Given the description of an element on the screen output the (x, y) to click on. 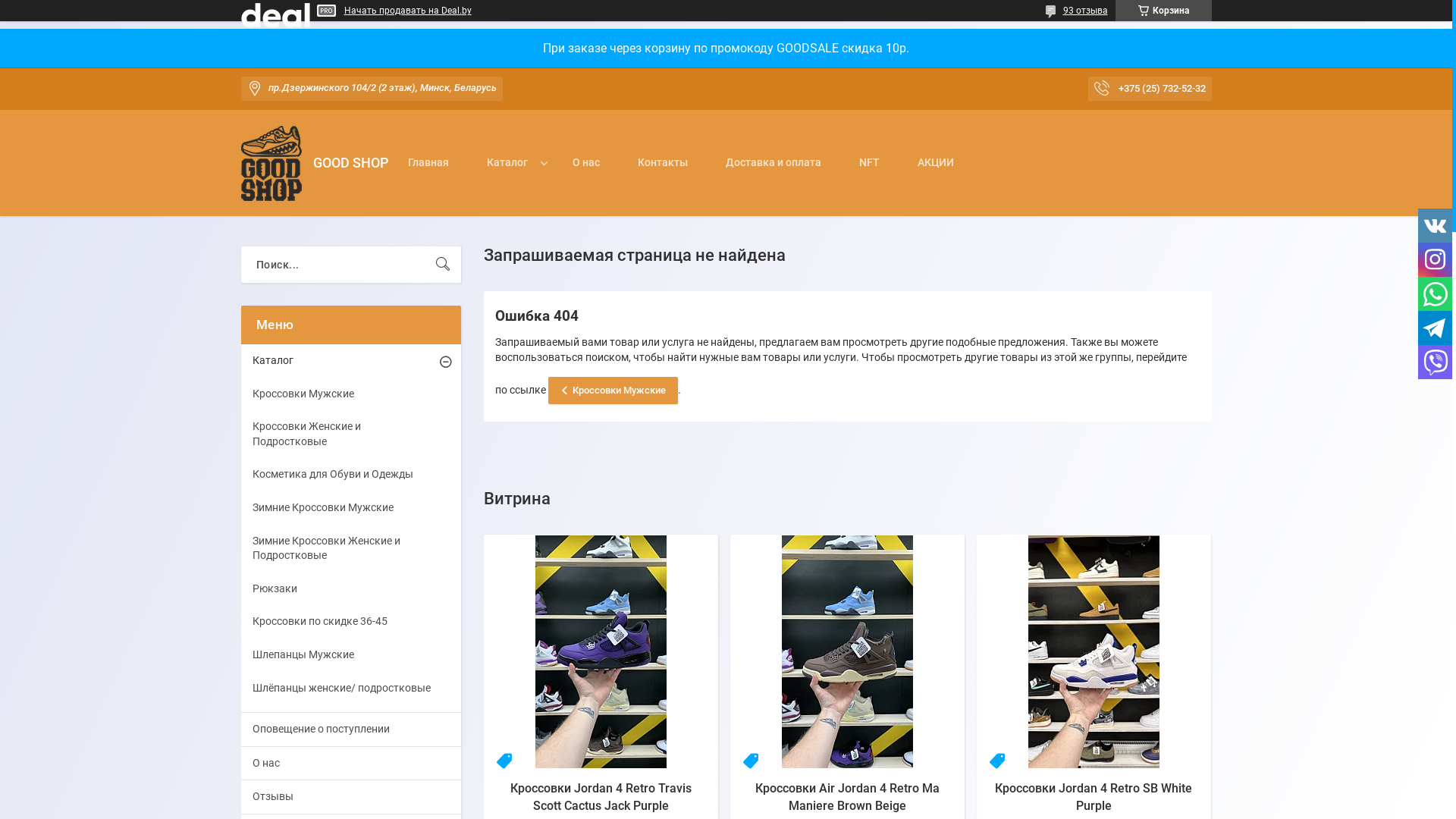
GOOD SHOP Element type: hover (271, 162)
NFT Element type: text (869, 180)
